Given the description of an element on the screen output the (x, y) to click on. 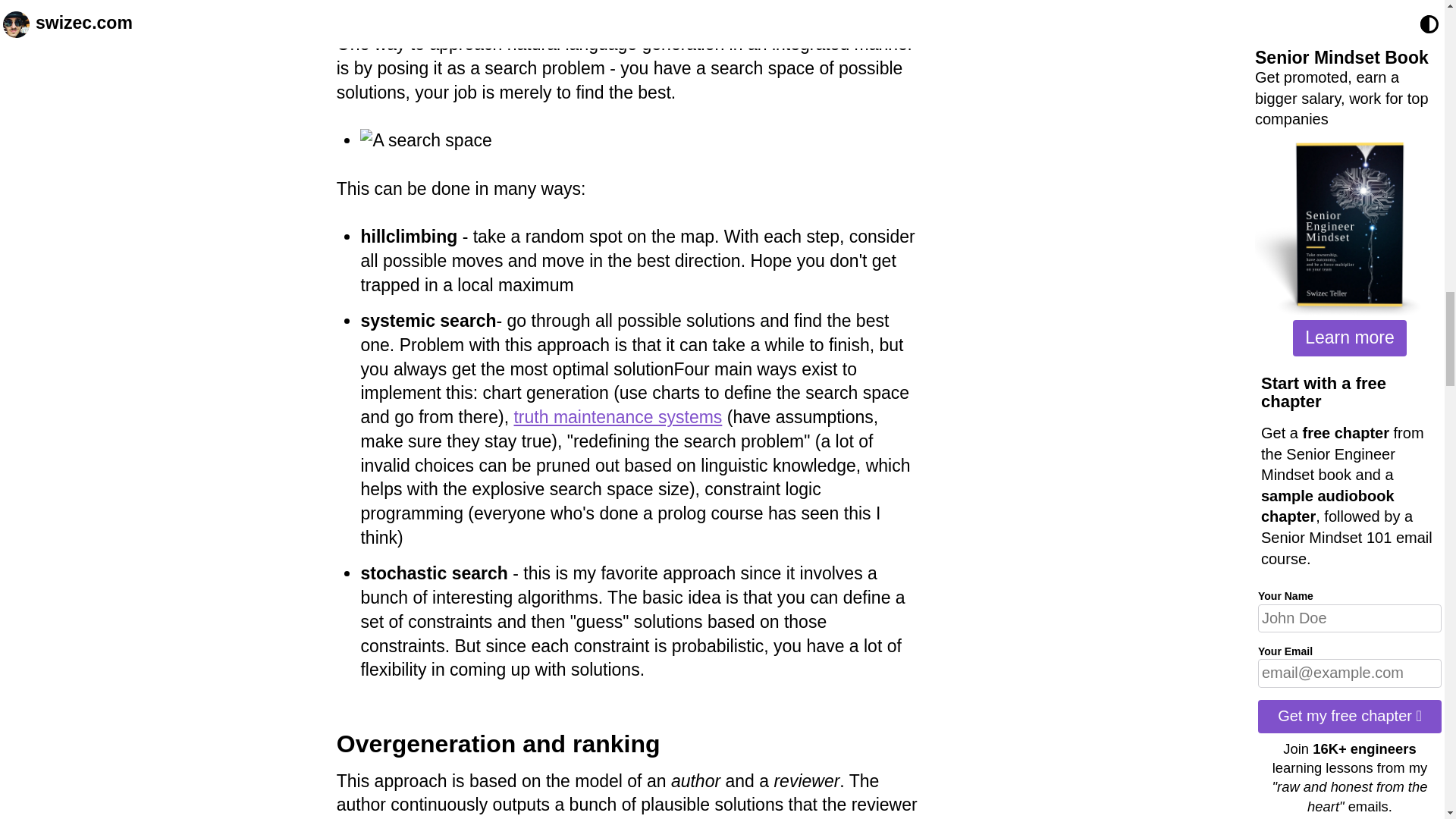
Overgeneration and ranking (498, 743)
NLG as a search problem (482, 10)
truth maintenance systems (617, 416)
Reason maintenance (617, 416)
A search space (425, 140)
